Given the description of an element on the screen output the (x, y) to click on. 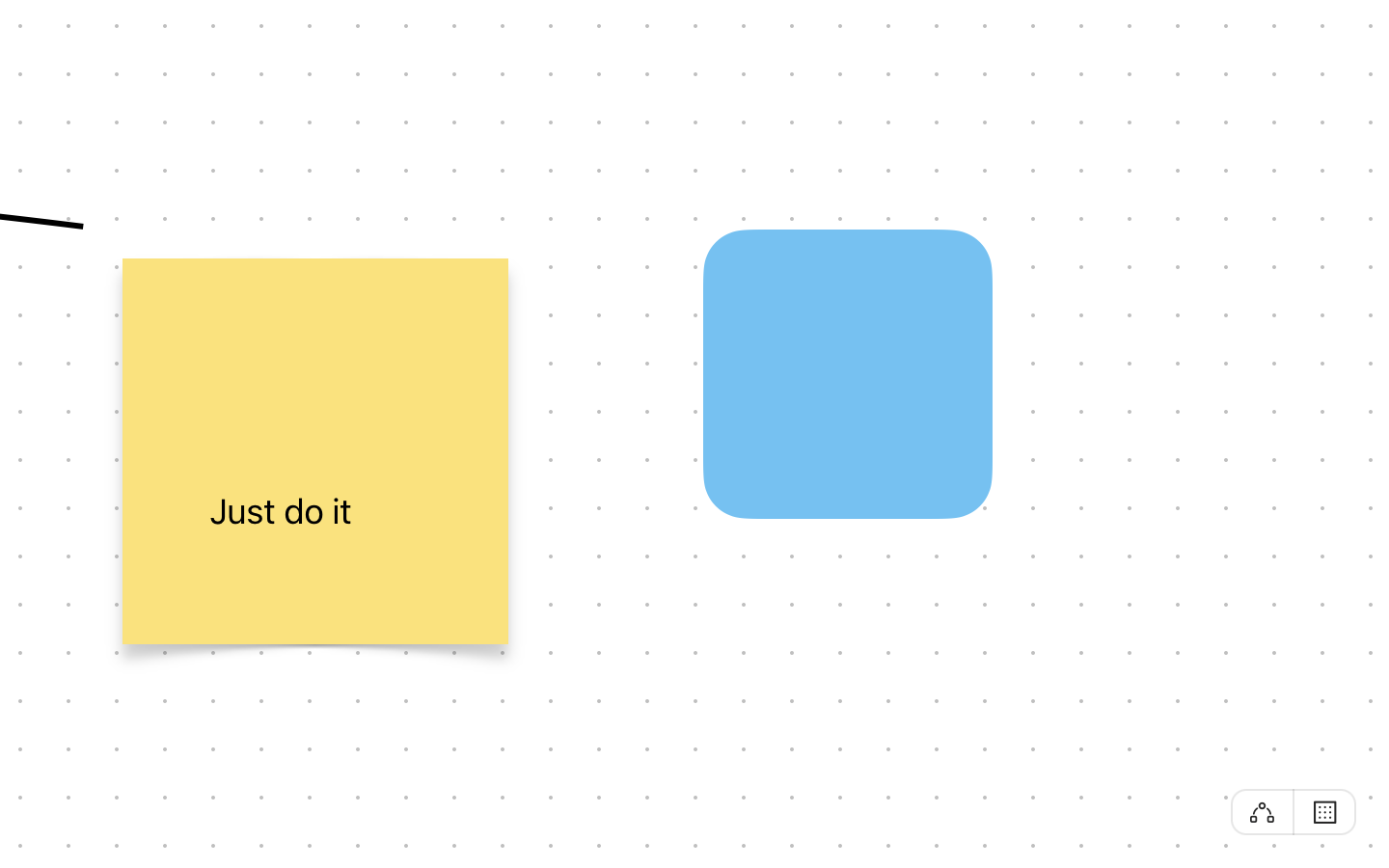
Off Element type: AXButton (1261, 812)
On Element type: AXButton (1325, 811)
